Given the description of an element on the screen output the (x, y) to click on. 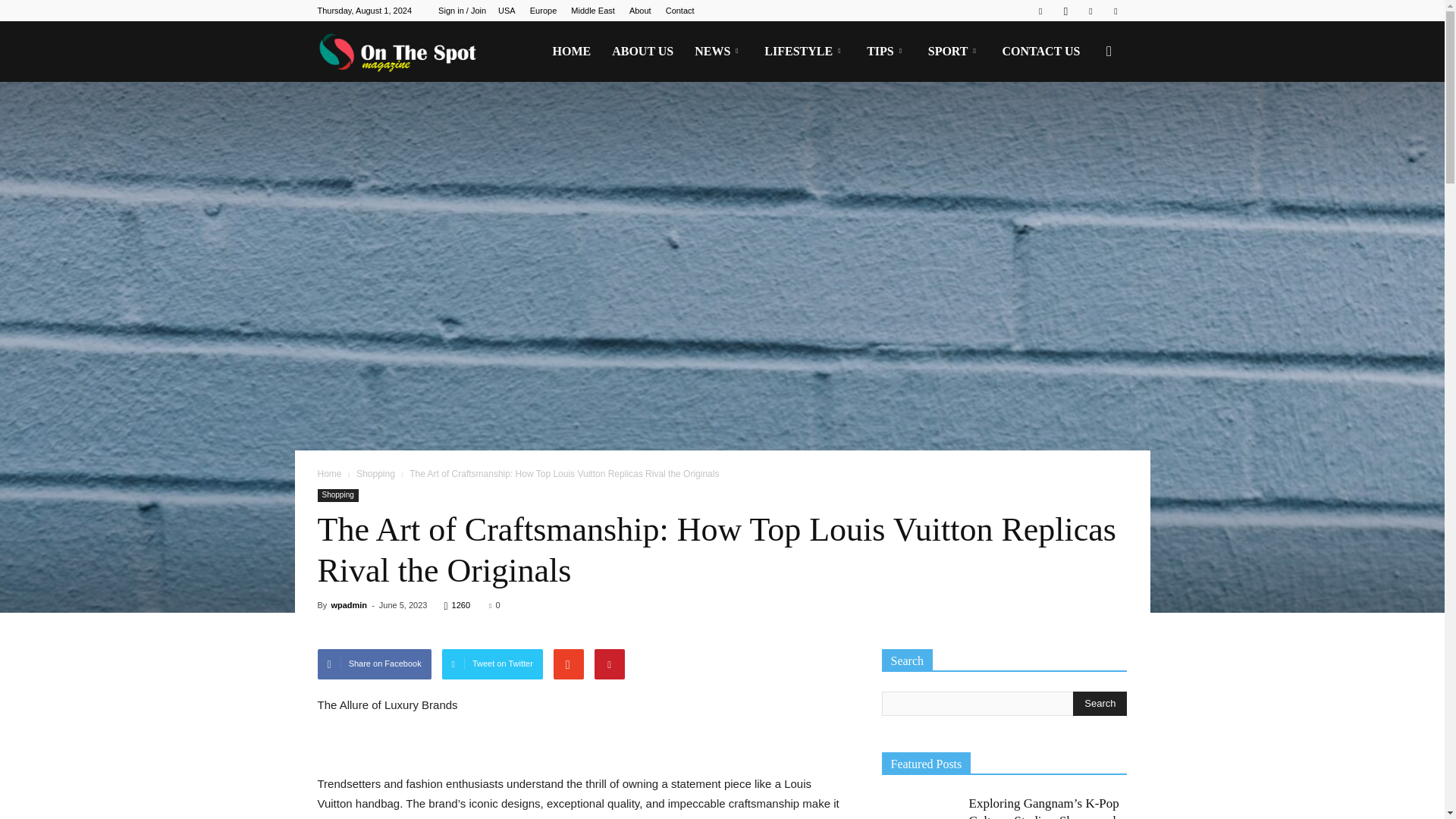
Europe (542, 10)
Middle East (592, 10)
Facebook (1040, 10)
On The Spot Magazine (401, 51)
Twitter (1090, 10)
About (639, 10)
Contact (679, 10)
ABOUT US (642, 51)
NEWS (719, 51)
Youtube (1114, 10)
